Given the description of an element on the screen output the (x, y) to click on. 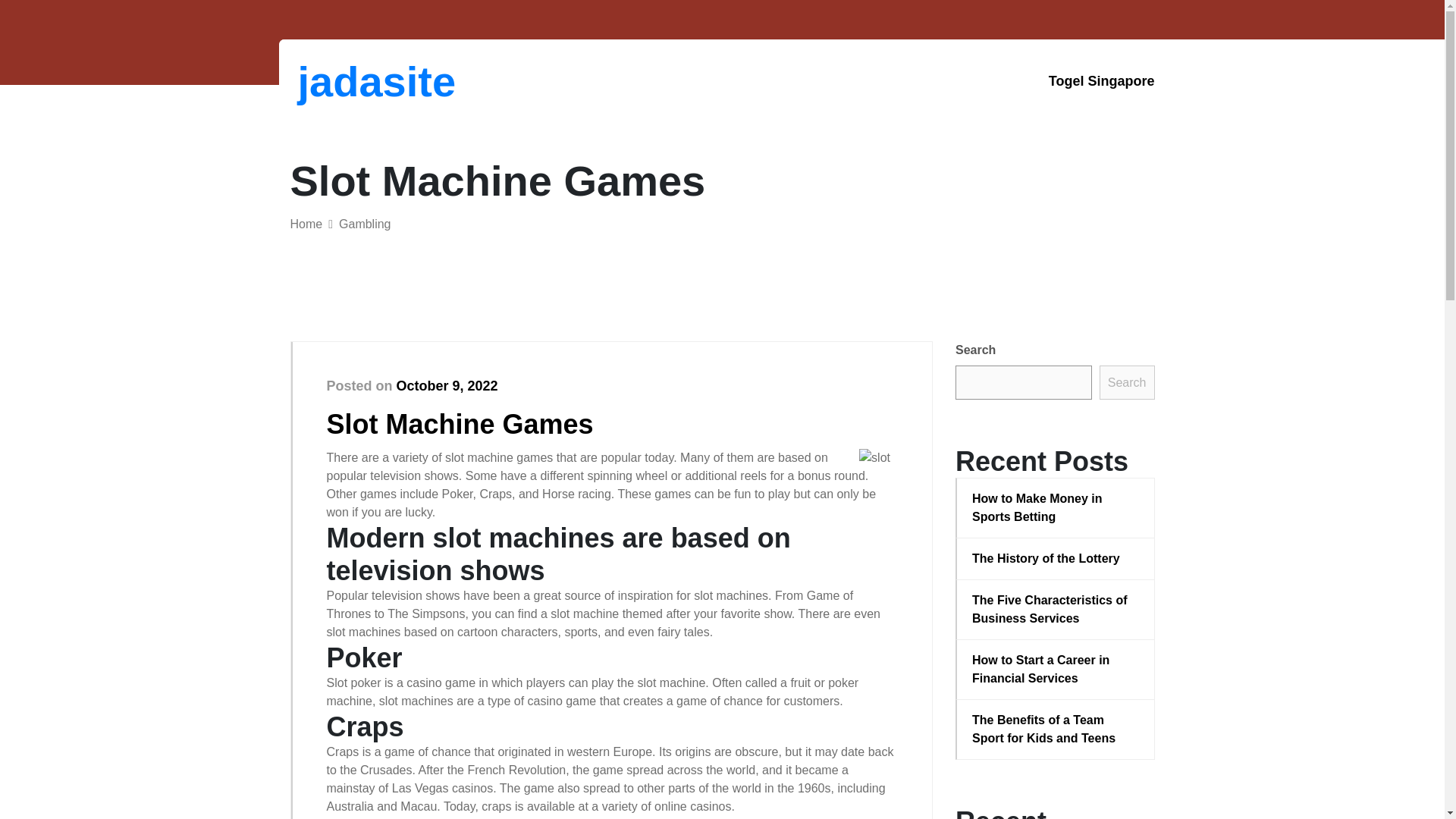
October 9, 2022 (446, 385)
Home (305, 223)
jadasite (376, 81)
Slot Machine Games (459, 423)
Gambling (364, 223)
Search (1126, 382)
The Benefits of a Team Sport for Kids and Teens (1055, 729)
Togel Singapore (1101, 81)
The History of the Lottery (1055, 558)
How to Make Money in Sports Betting (1055, 507)
Togel Singapore (1101, 81)
The Five Characteristics of Business Services (1055, 609)
How to Start a Career in Financial Services (1055, 669)
